Given the description of an element on the screen output the (x, y) to click on. 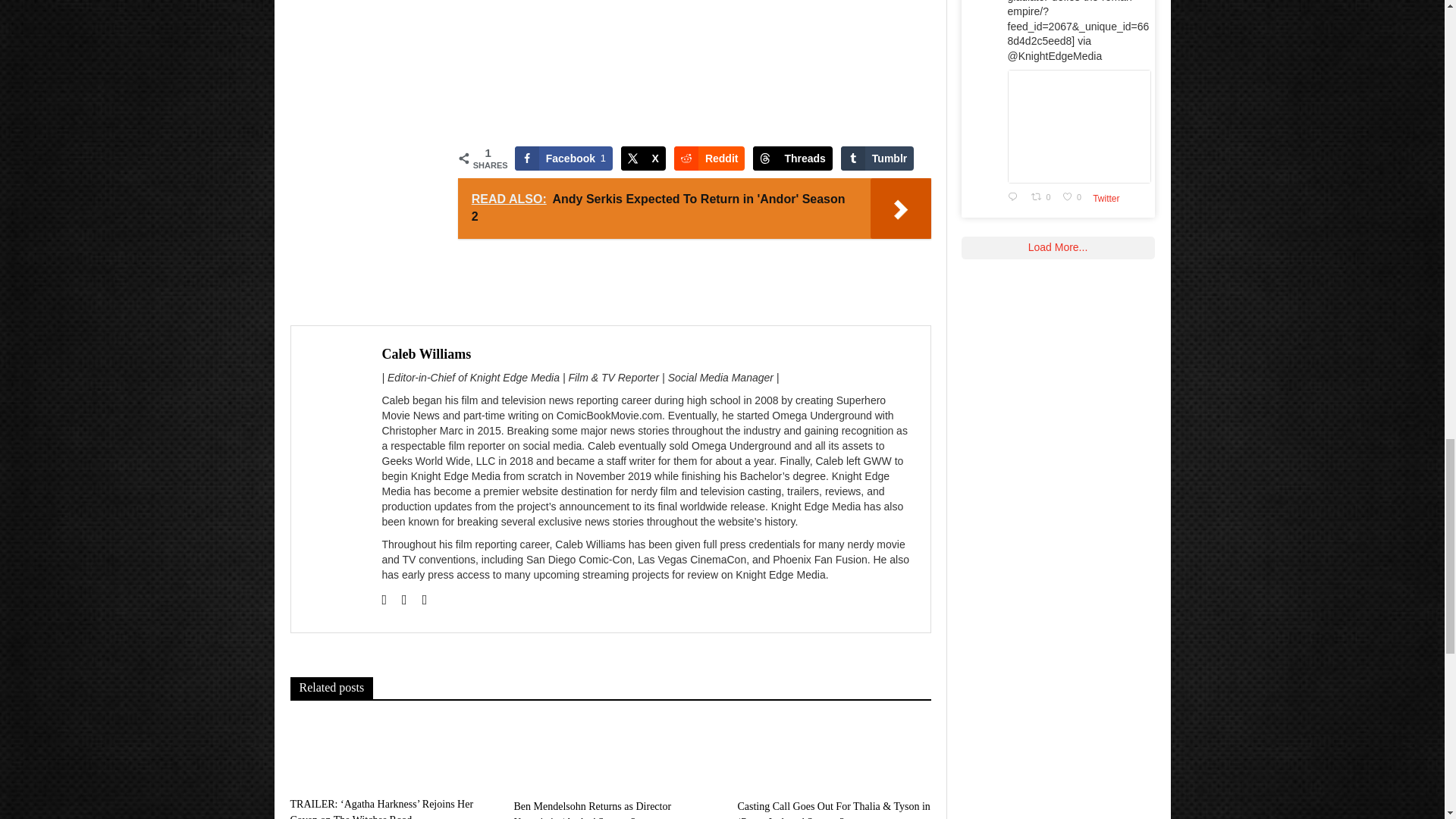
Share on Threads (791, 158)
Posts by Caleb Williams (426, 353)
Share on Reddit (709, 158)
Share on Tumblr (877, 158)
Share on X (643, 158)
Share on Facebook (563, 158)
